Given the description of an element on the screen output the (x, y) to click on. 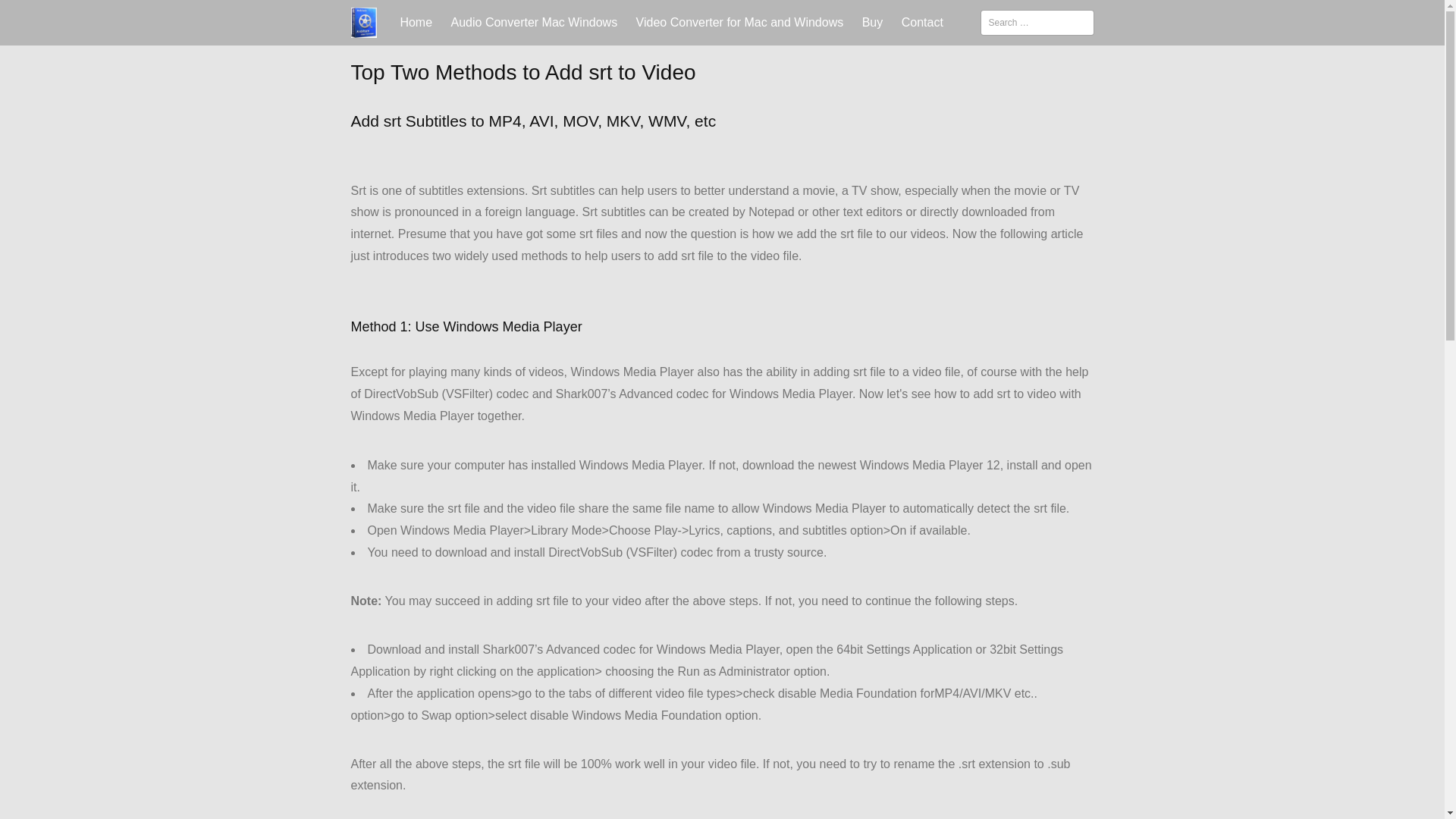
Contact (921, 22)
Audio Converter Mac Windows (535, 22)
Video Converter for Mac and Windows (739, 22)
Home (415, 22)
Search (32, 15)
